Given the description of an element on the screen output the (x, y) to click on. 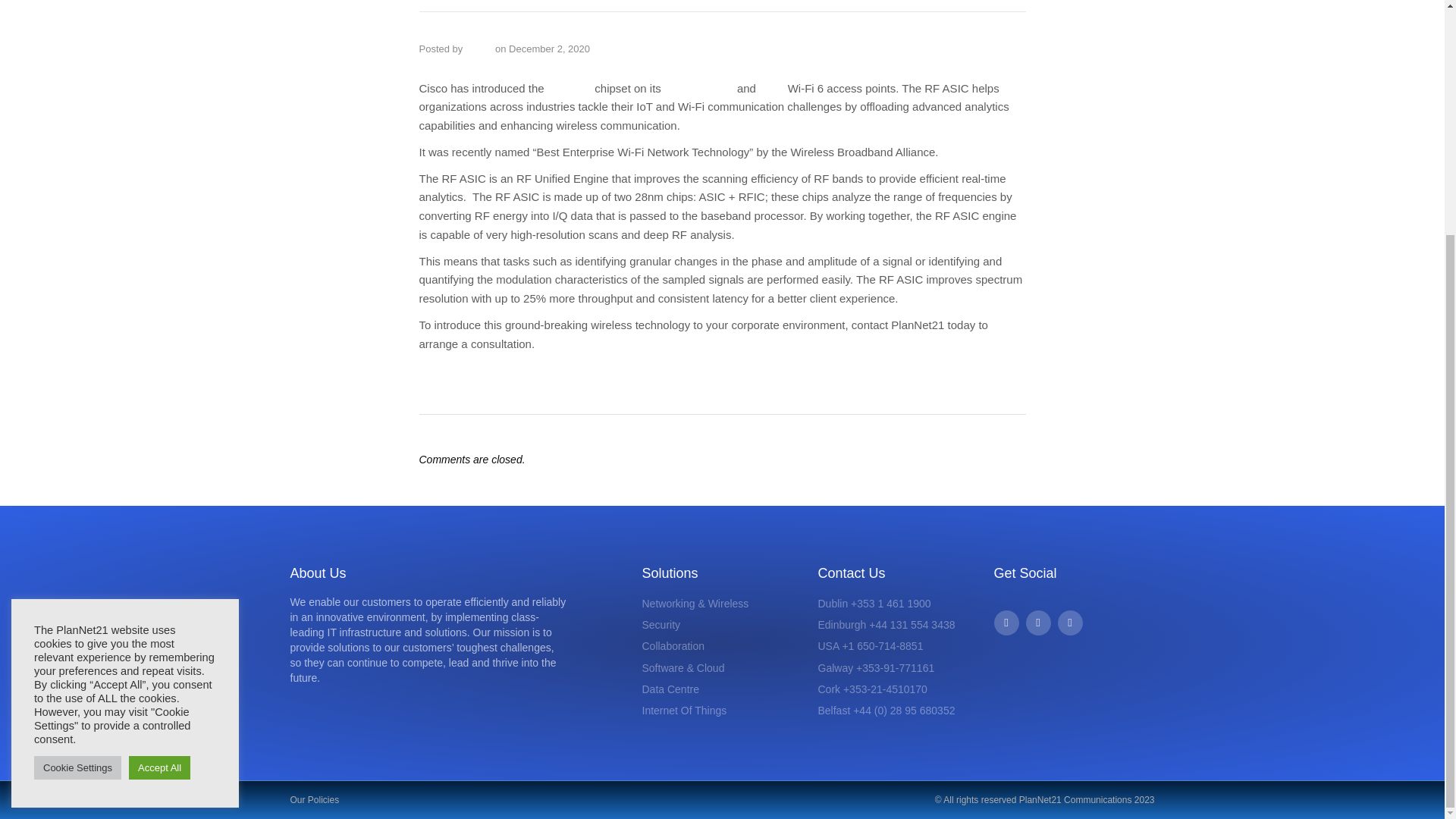
Posts by admin (478, 48)
